Given the description of an element on the screen output the (x, y) to click on. 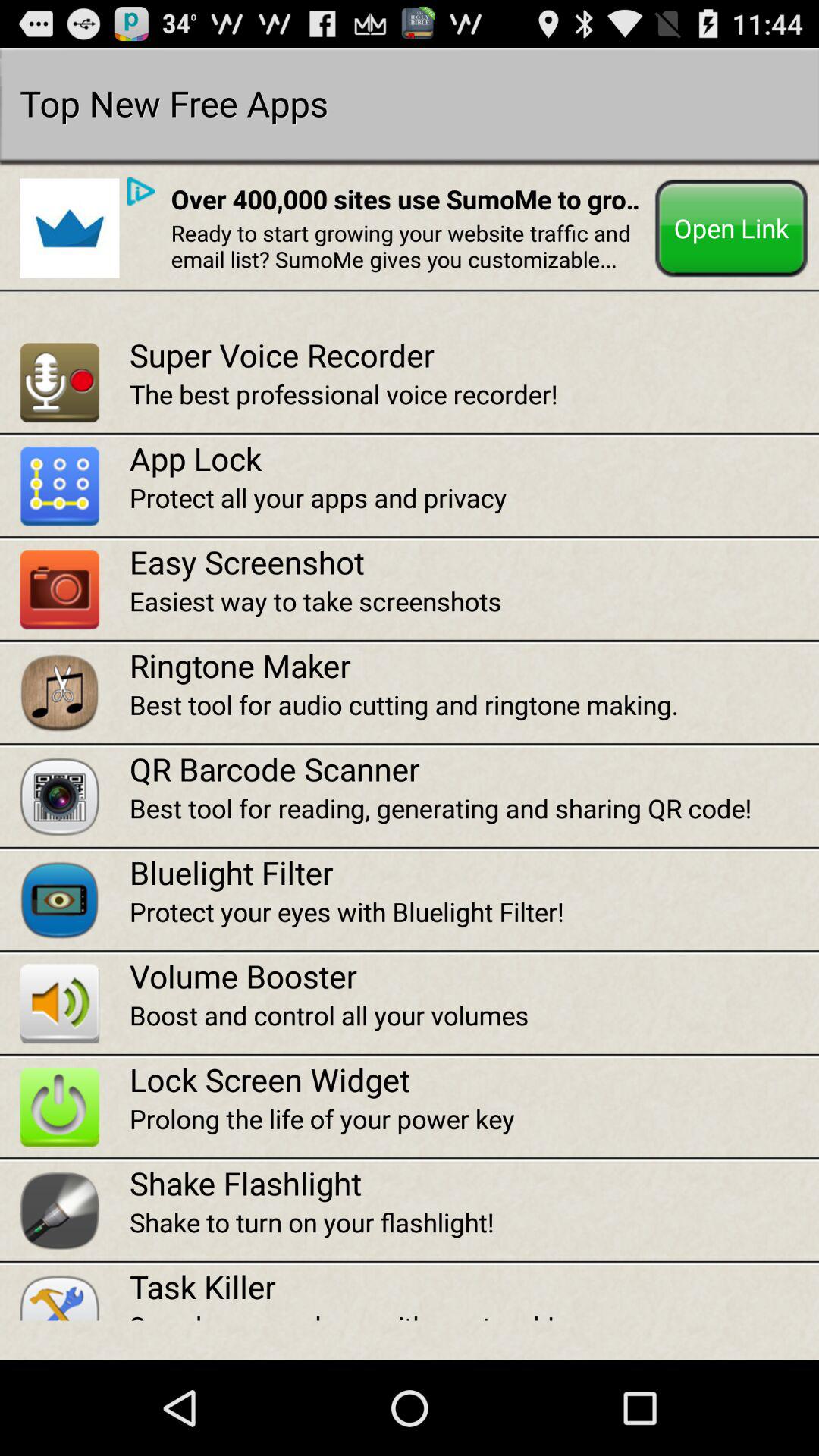
tap the task killer item (474, 1286)
